Given the description of an element on the screen output the (x, y) to click on. 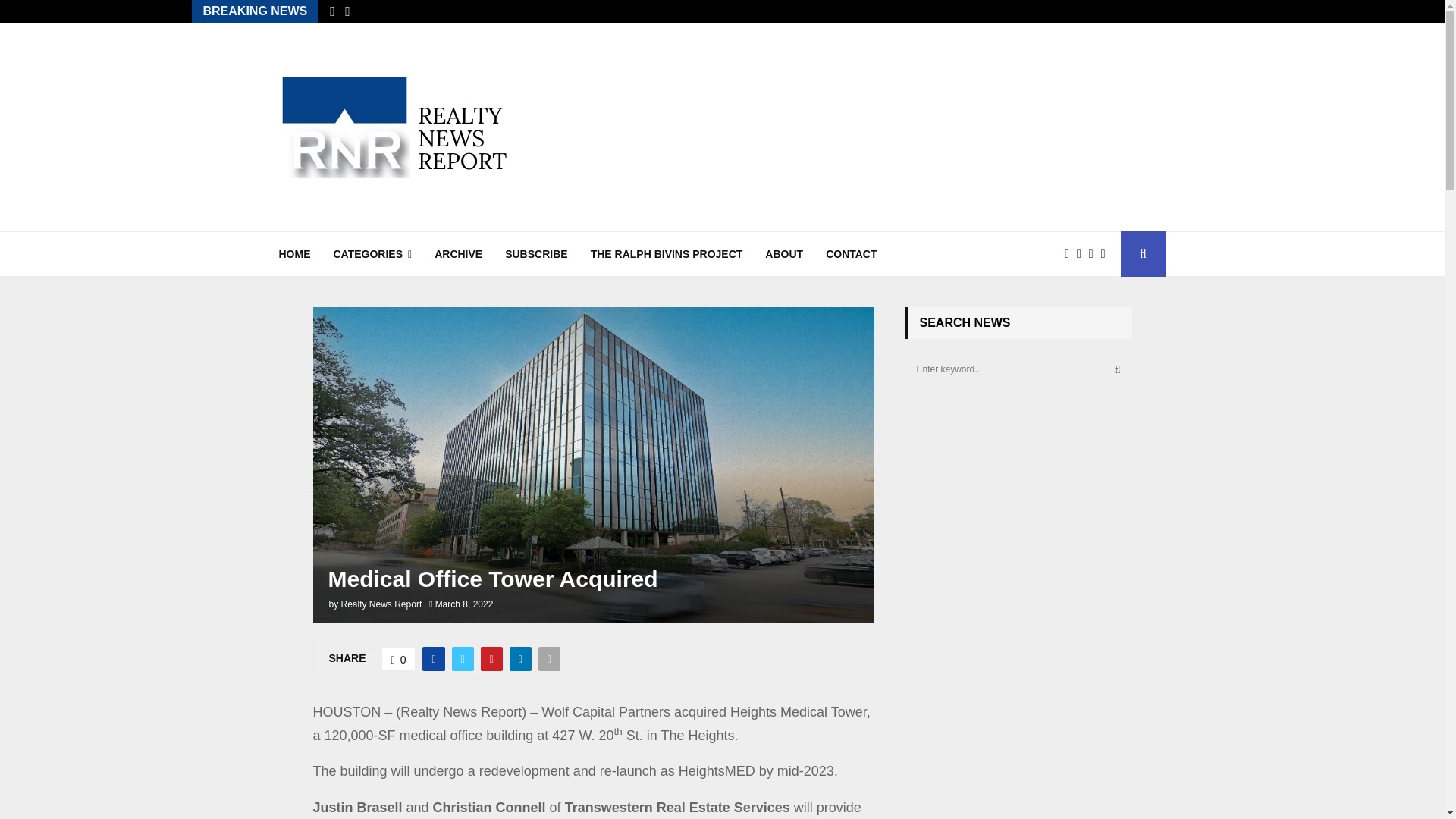
THE RALPH BIVINS PROJECT (666, 253)
Like (398, 658)
SUBSCRIBE (536, 253)
CONTACT (850, 253)
CATEGORIES (372, 253)
ARCHIVE (457, 253)
